Given the description of an element on the screen output the (x, y) to click on. 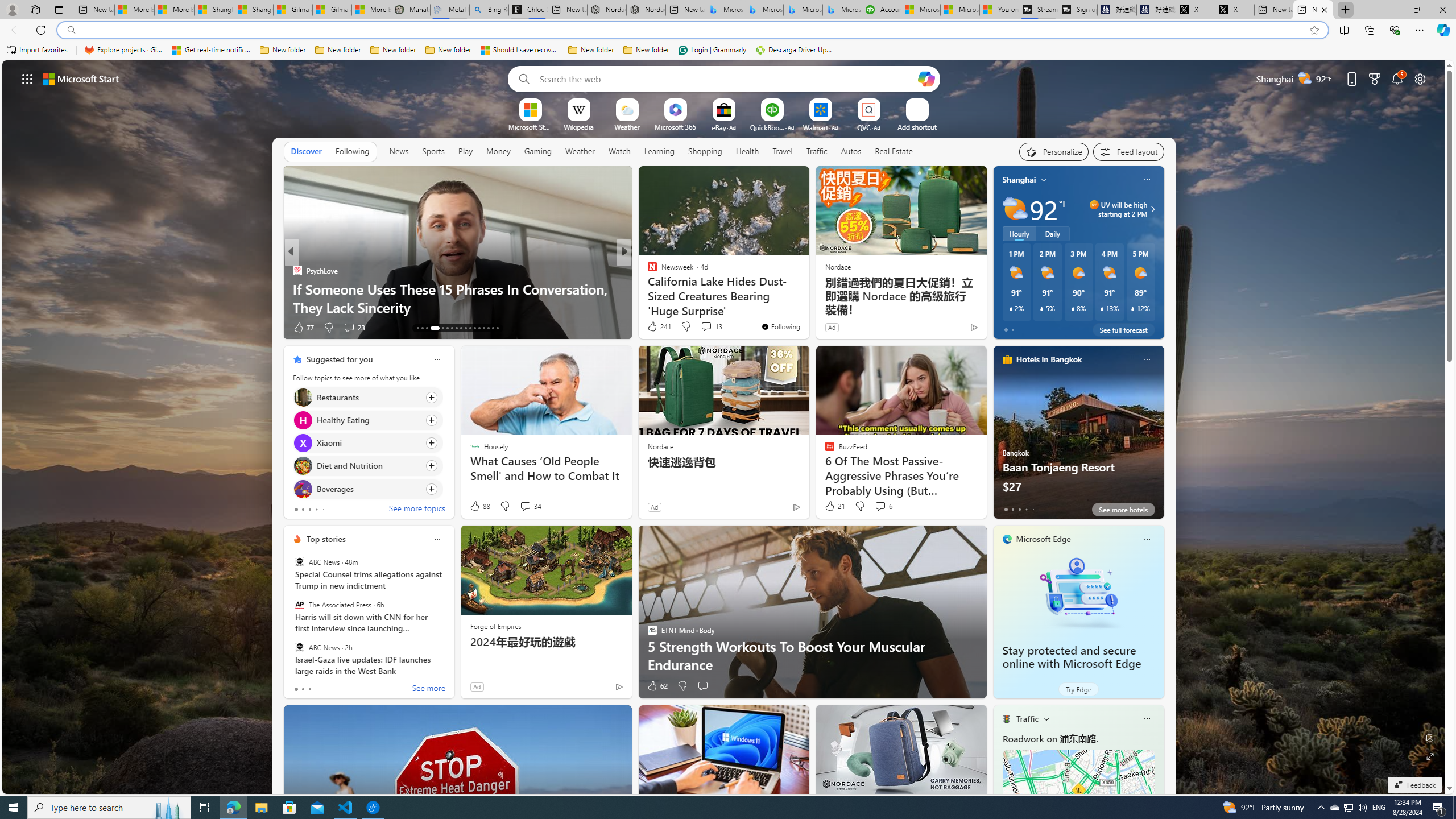
View comments 6 Comment (879, 505)
Business Insider (647, 270)
Manatee Mortality Statistics | FWC (410, 9)
AutomationID: tab-27 (488, 328)
88 Like (479, 505)
My location (1043, 179)
